Given the description of an element on the screen output the (x, y) to click on. 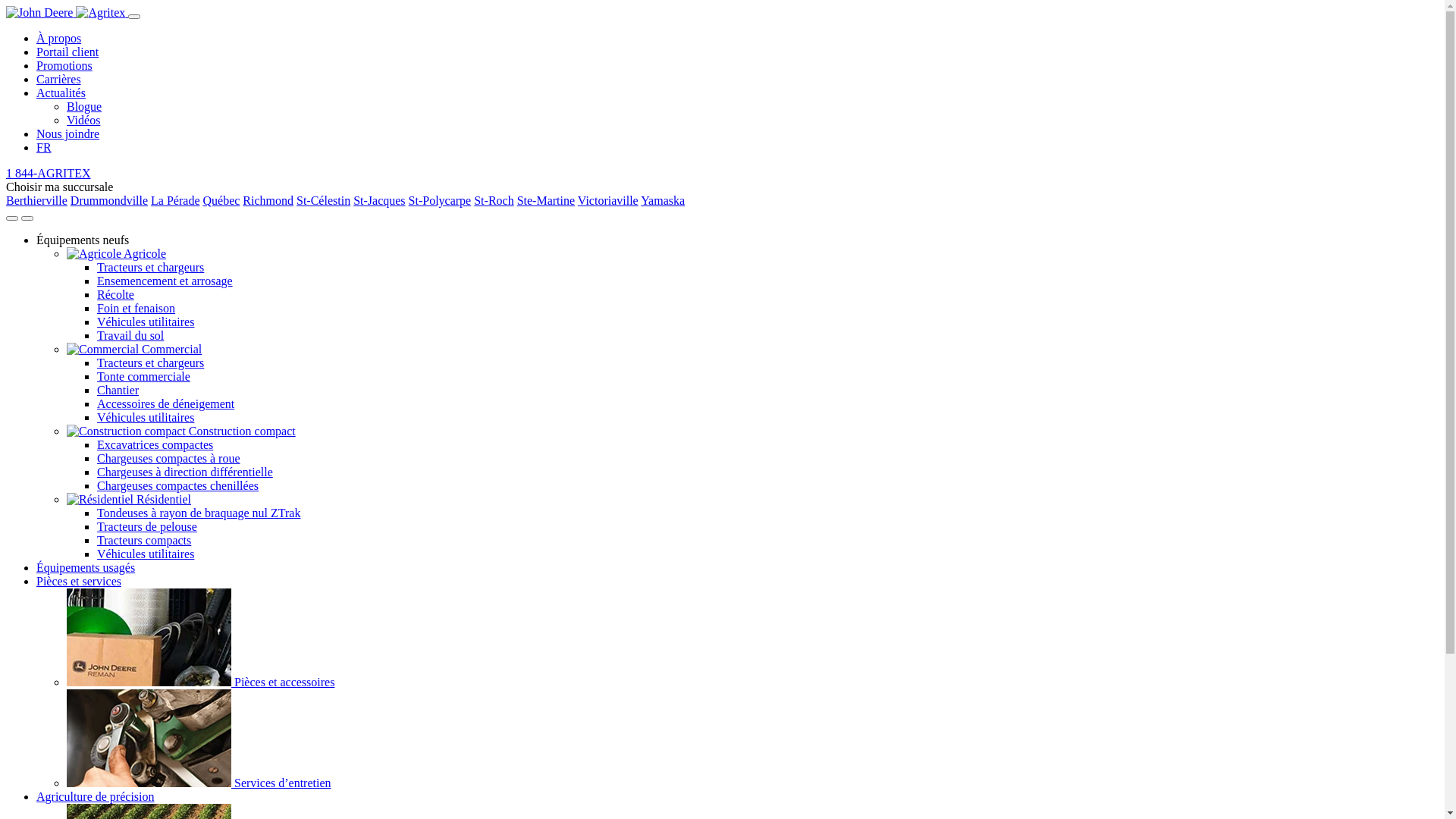
Tracteurs et chargeurs Element type: text (150, 362)
Construction compact Element type: text (241, 430)
Ste-Martine Element type: text (545, 200)
Menu Element type: hover (134, 16)
Nous joindre Element type: text (67, 133)
Victoriaville Element type: text (607, 200)
Commercial Element type: text (171, 348)
Tonte commerciale Element type: text (143, 376)
FR Element type: text (43, 147)
Tracteurs de pelouse Element type: text (147, 526)
Richmond Element type: text (267, 200)
Menu Element type: hover (27, 218)
Portail client Element type: text (67, 51)
Yamaska Element type: text (662, 200)
St-Jacques Element type: text (378, 200)
Ensemencement et arrosage Element type: text (164, 280)
Foin et fenaison Element type: text (136, 307)
St-Roch Element type: text (493, 200)
1 844-AGRITEX Element type: text (48, 172)
Berthierville Element type: text (36, 200)
Chantier Element type: text (117, 389)
Blogue Element type: text (83, 106)
Agricole Element type: text (144, 253)
Excavatrices compactes Element type: text (155, 444)
Drummondville Element type: text (108, 200)
Menu Element type: hover (12, 218)
Promotions Element type: text (64, 65)
Tracteurs compacts Element type: text (144, 539)
Travail du sol Element type: text (130, 335)
St-Polycarpe Element type: text (439, 200)
Tracteurs et chargeurs Element type: text (150, 266)
